Given the description of an element on the screen output the (x, y) to click on. 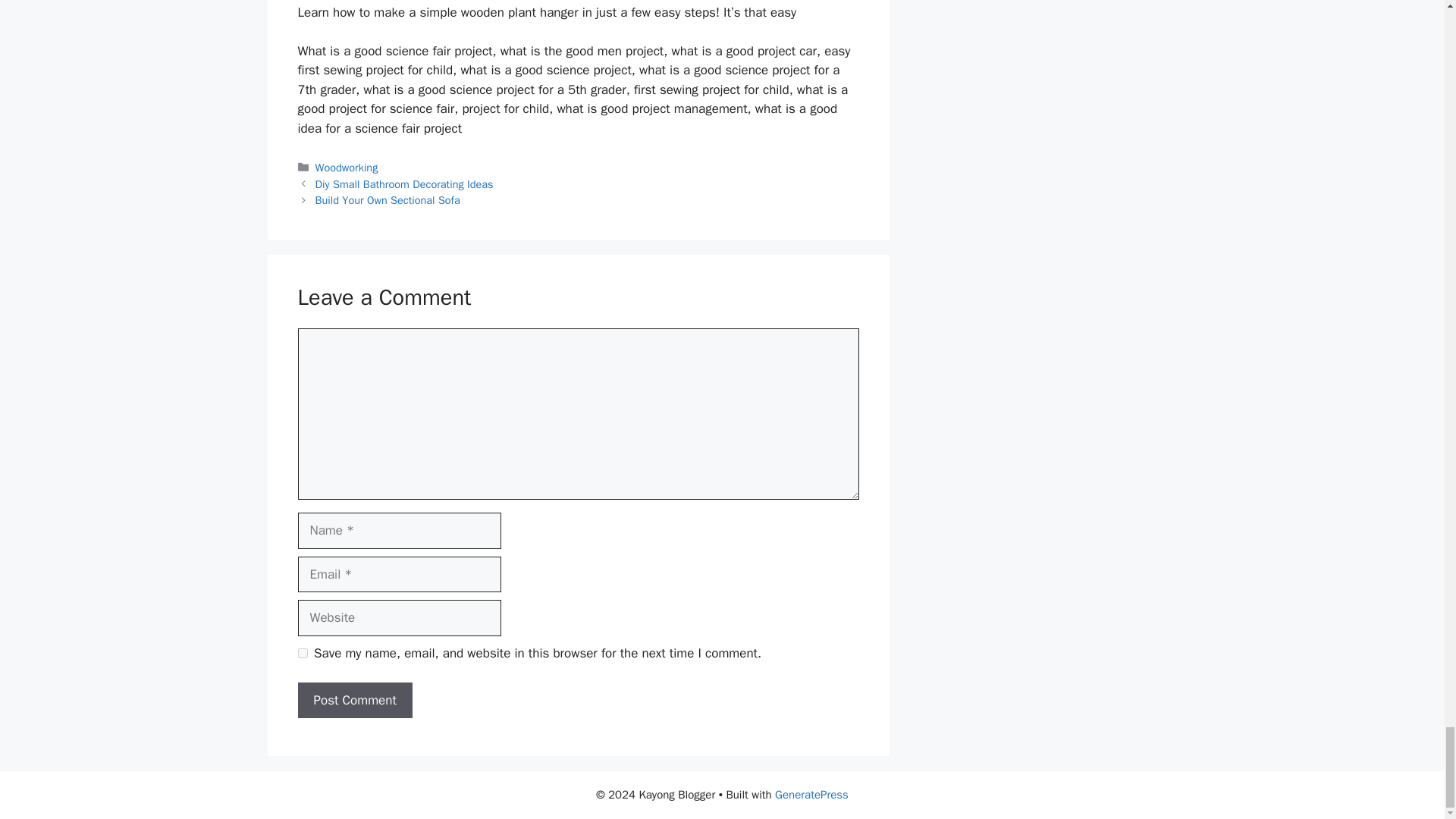
yes (302, 653)
Post Comment (354, 700)
Diy Small Bathroom Decorating Ideas (404, 183)
GeneratePress (811, 794)
Post Comment (354, 700)
Build Your Own Sectional Sofa (387, 200)
Woodworking (346, 167)
